Given the description of an element on the screen output the (x, y) to click on. 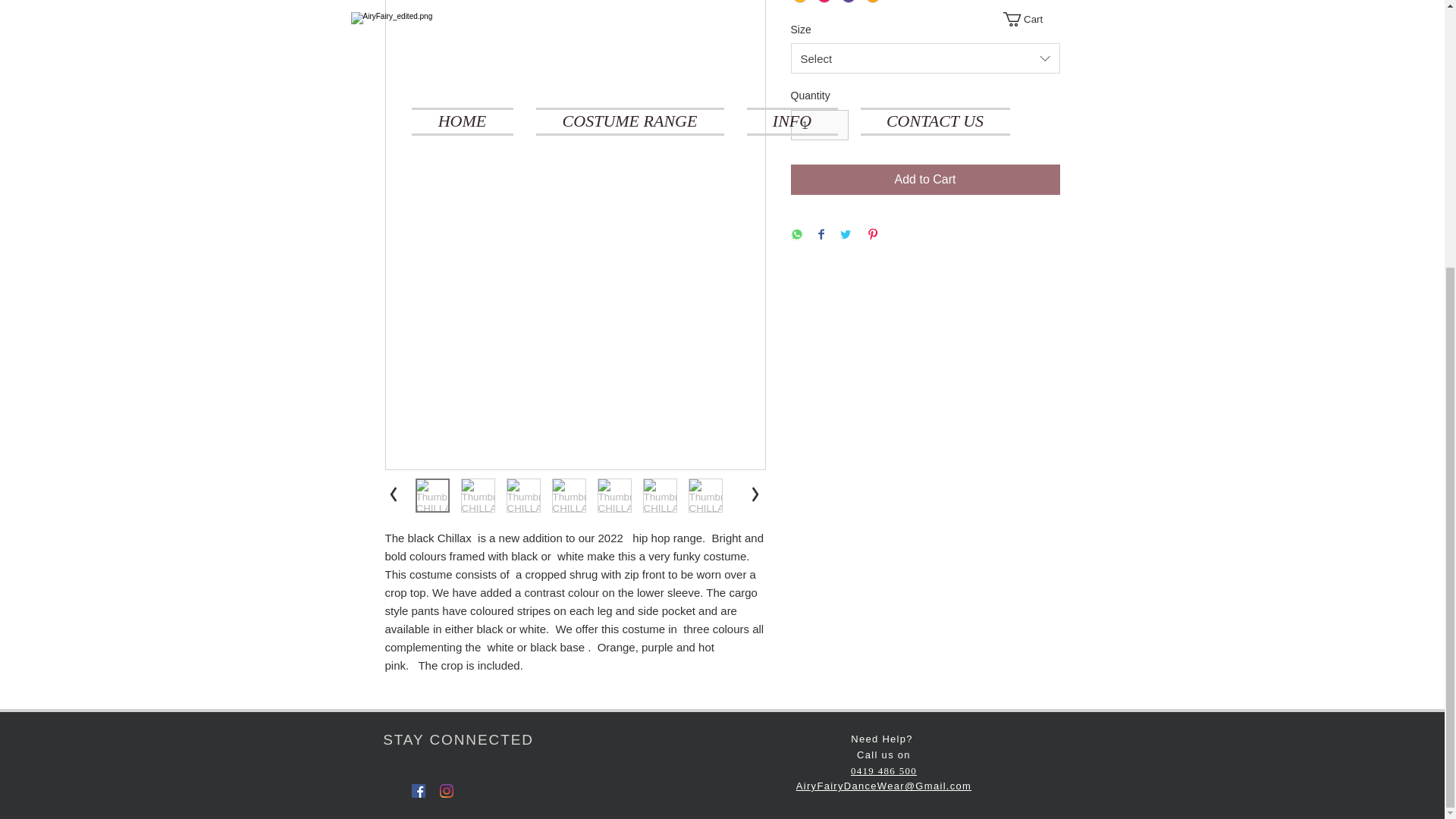
Select (924, 58)
Add to Cart (924, 179)
1 (818, 124)
0419 486 500 (883, 770)
